Given the description of an element on the screen output the (x, y) to click on. 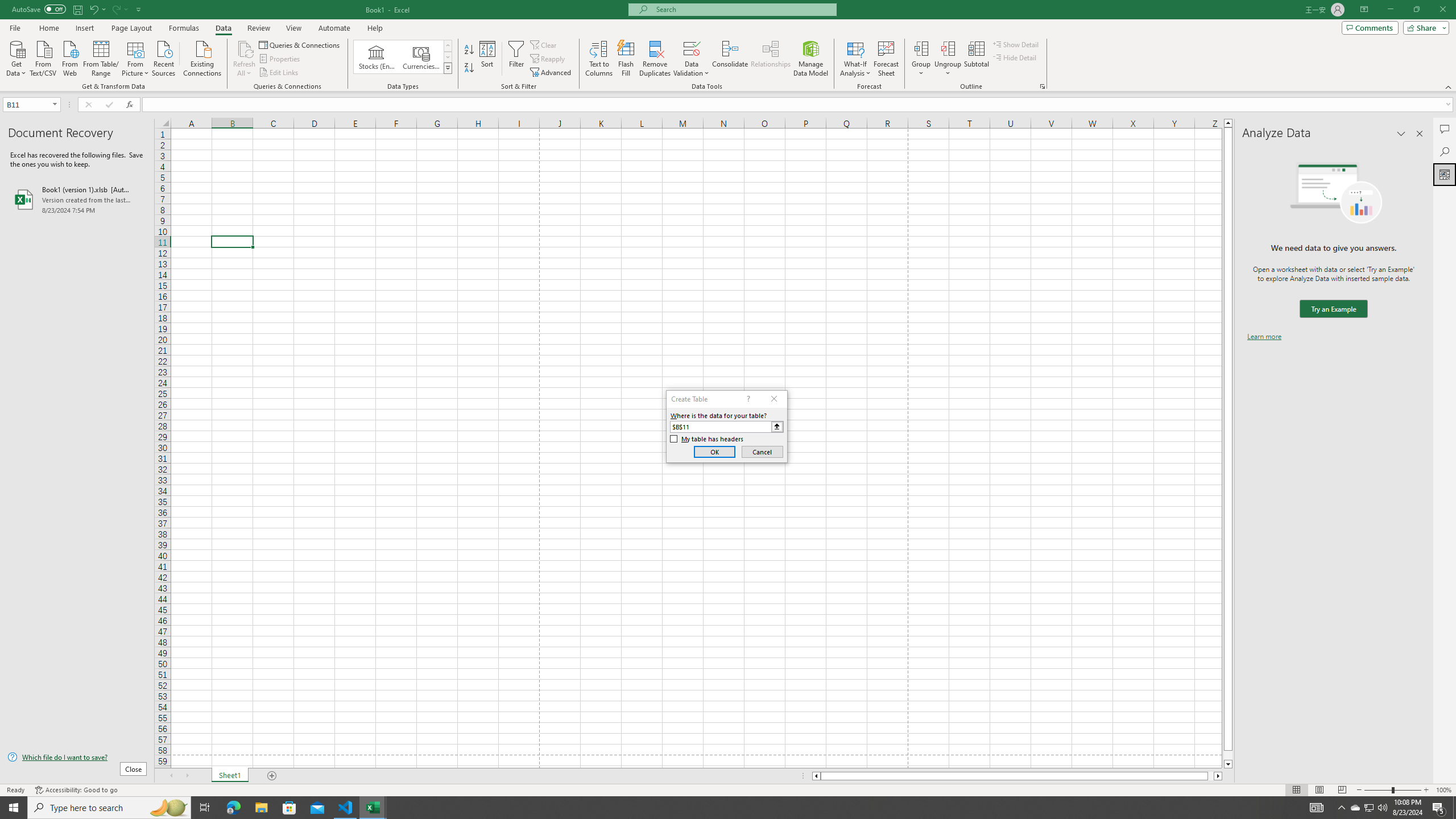
Existing Connections (202, 57)
Consolidate... (729, 58)
Queries & Connections (300, 44)
